Given the description of an element on the screen output the (x, y) to click on. 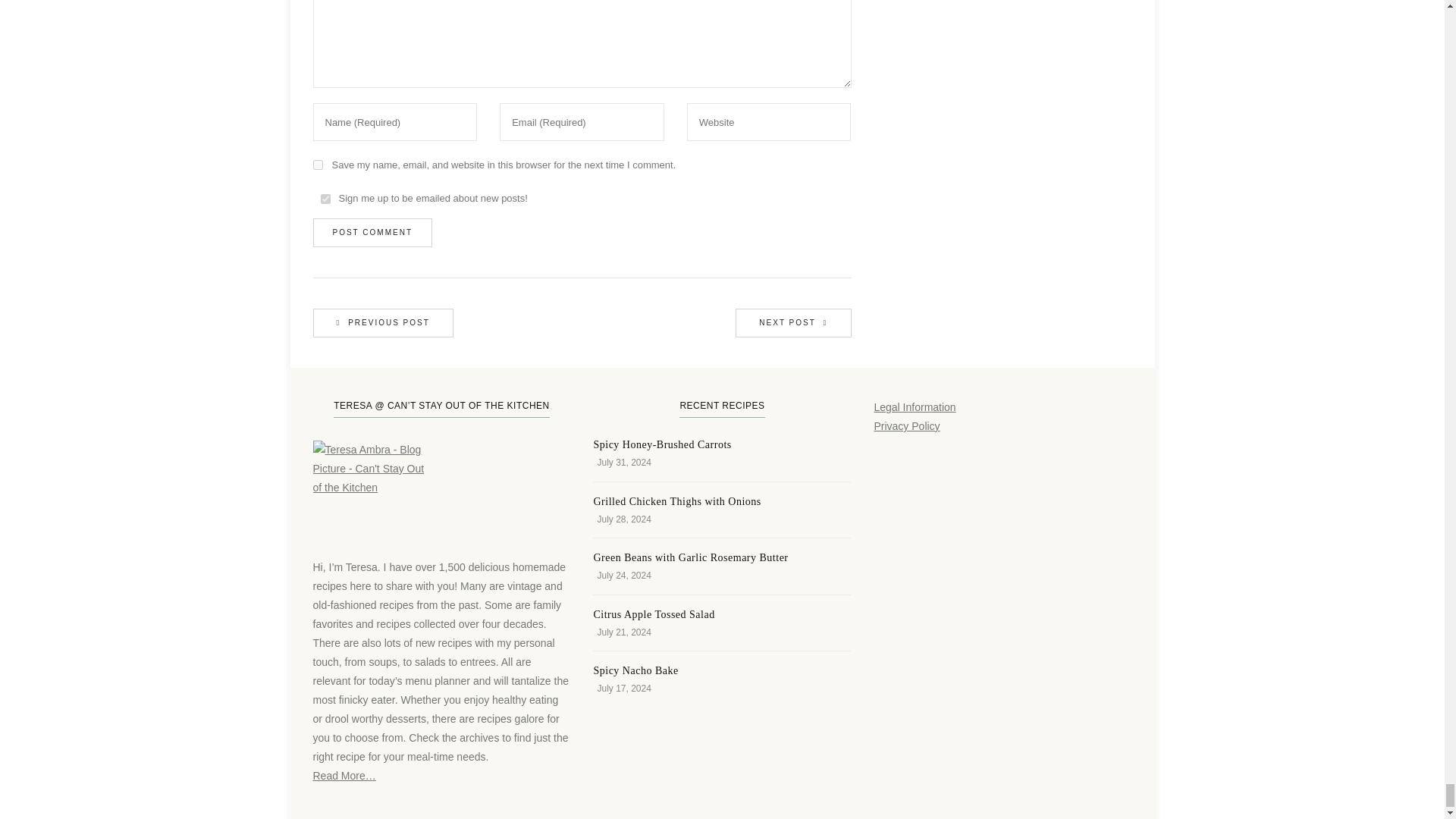
yes (317, 164)
Post Comment (371, 232)
1 (325, 198)
